Given the description of an element on the screen output the (x, y) to click on. 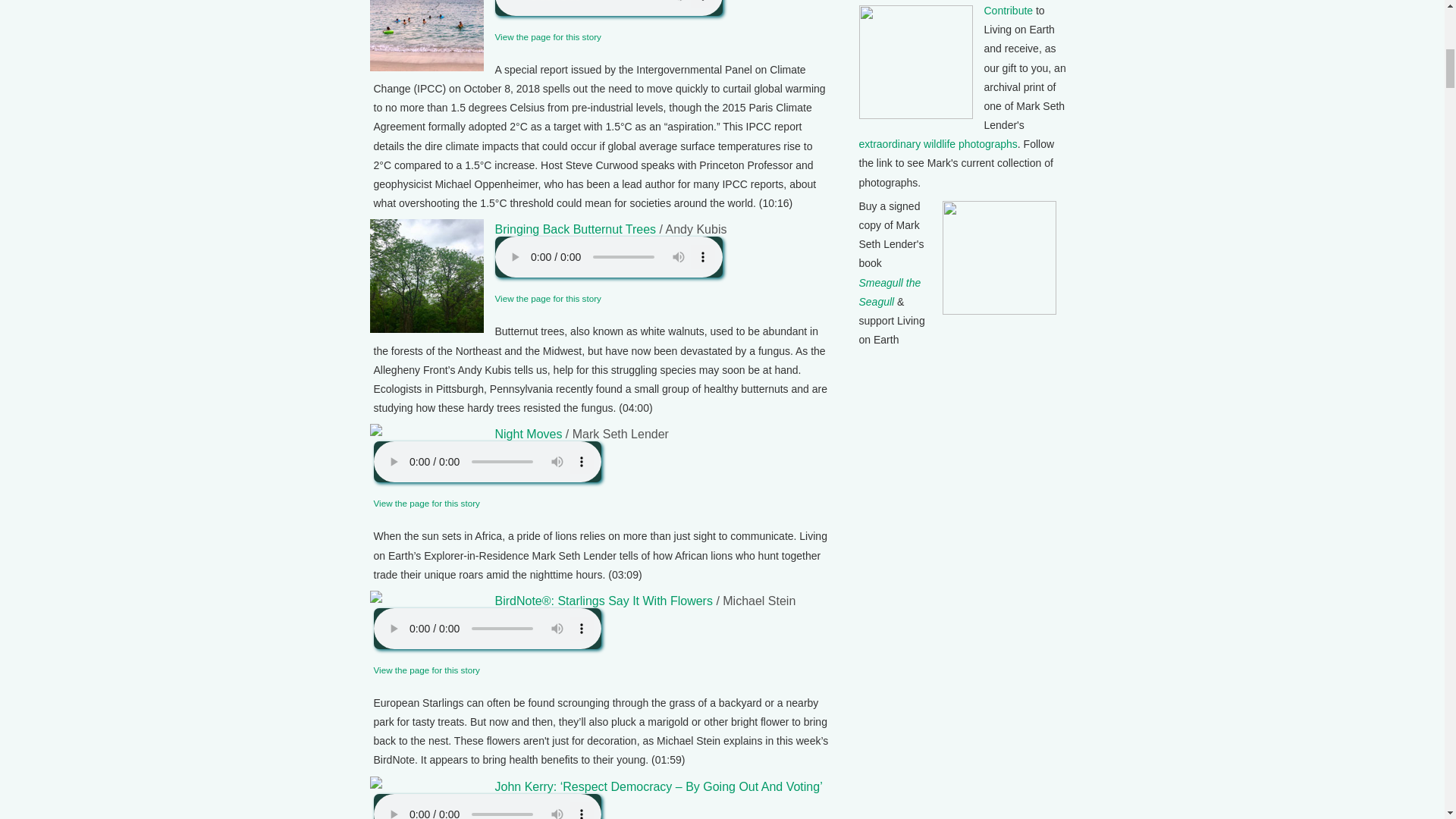
View the page for this story (547, 298)
View the page for this story (547, 36)
View the page for this story (425, 502)
View the page for this story (425, 669)
Night Moves (528, 433)
Bringing Back Butternut Trees (575, 228)
